Given the description of an element on the screen output the (x, y) to click on. 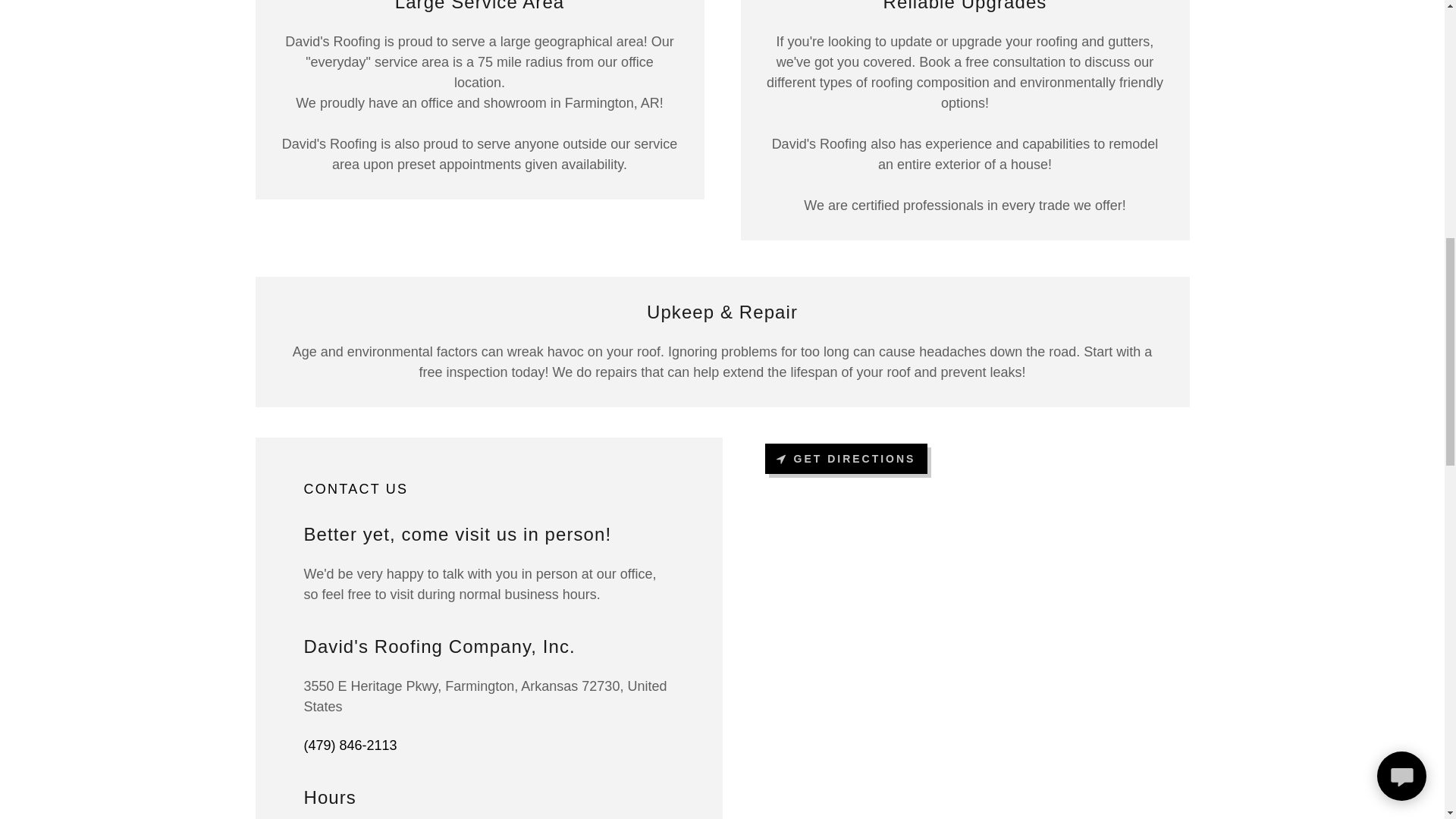
ACCEPT (1274, 324)
GET DIRECTIONS (845, 458)
